Given the description of an element on the screen output the (x, y) to click on. 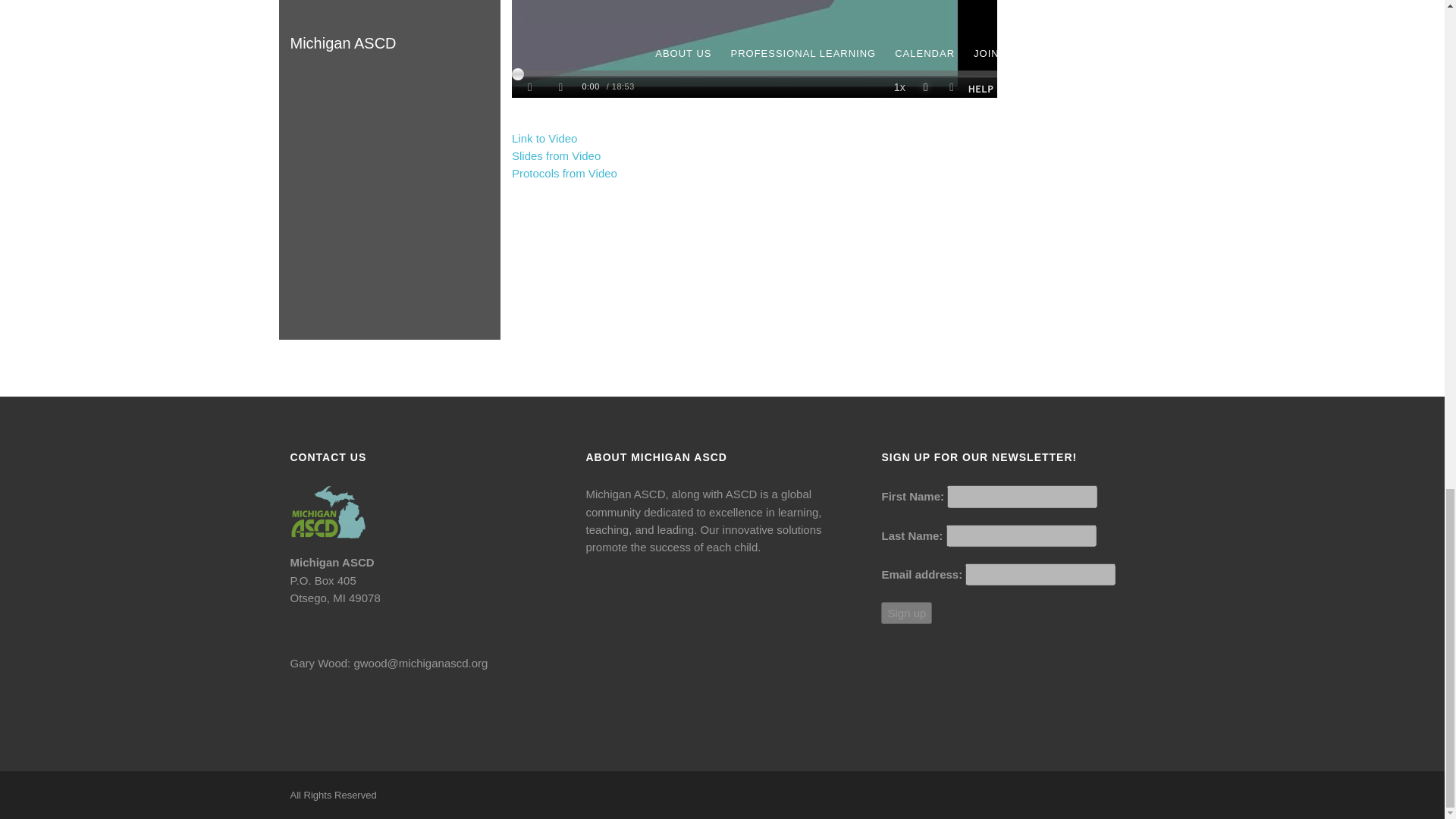
Kaltura Player (754, 48)
Sign up (905, 612)
Link to Video (544, 137)
Protocols from Video (564, 173)
Sign up (905, 612)
Slides from Video (555, 155)
